Given the description of an element on the screen output the (x, y) to click on. 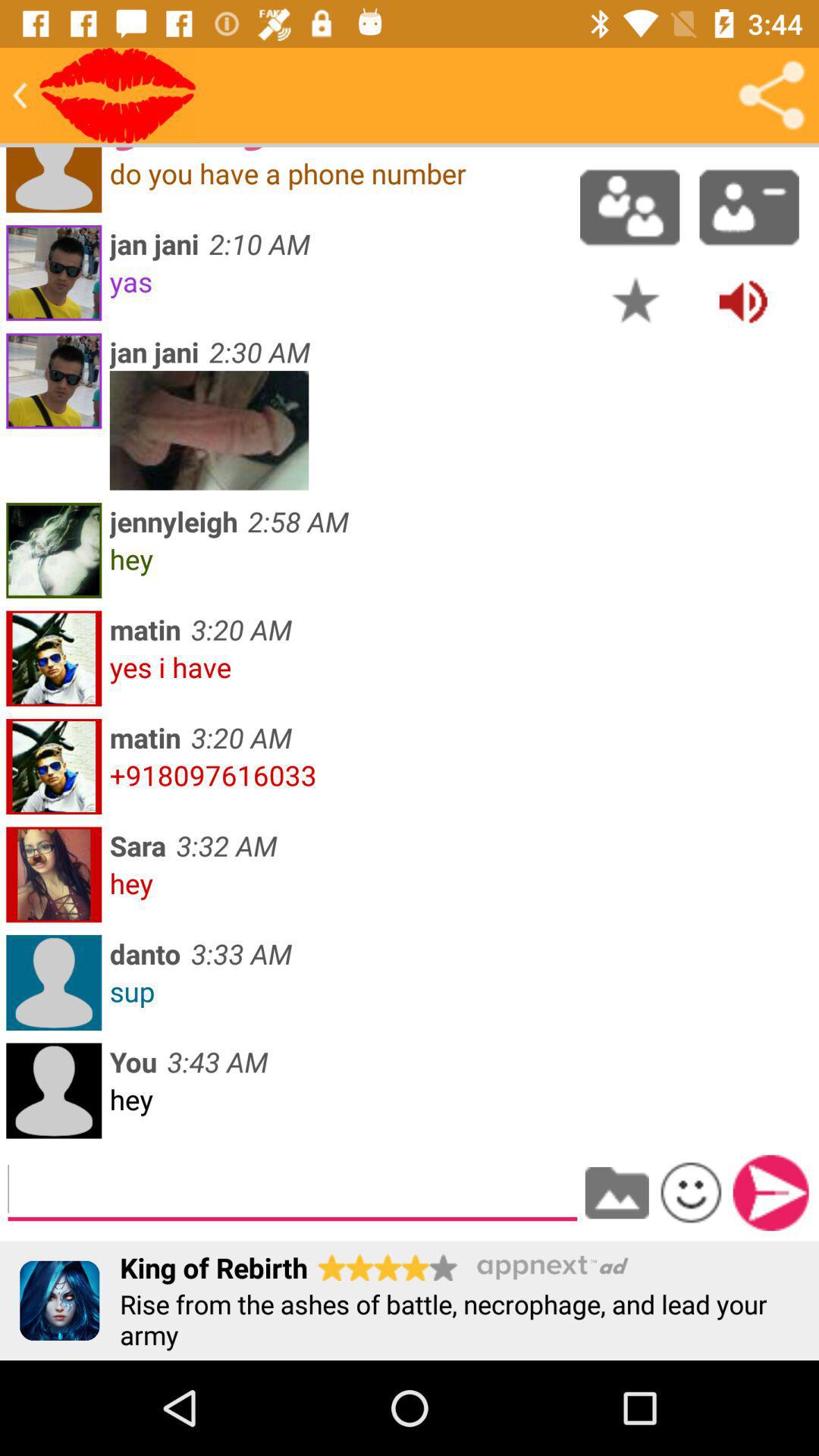
select here (117, 95)
